Given the description of an element on the screen output the (x, y) to click on. 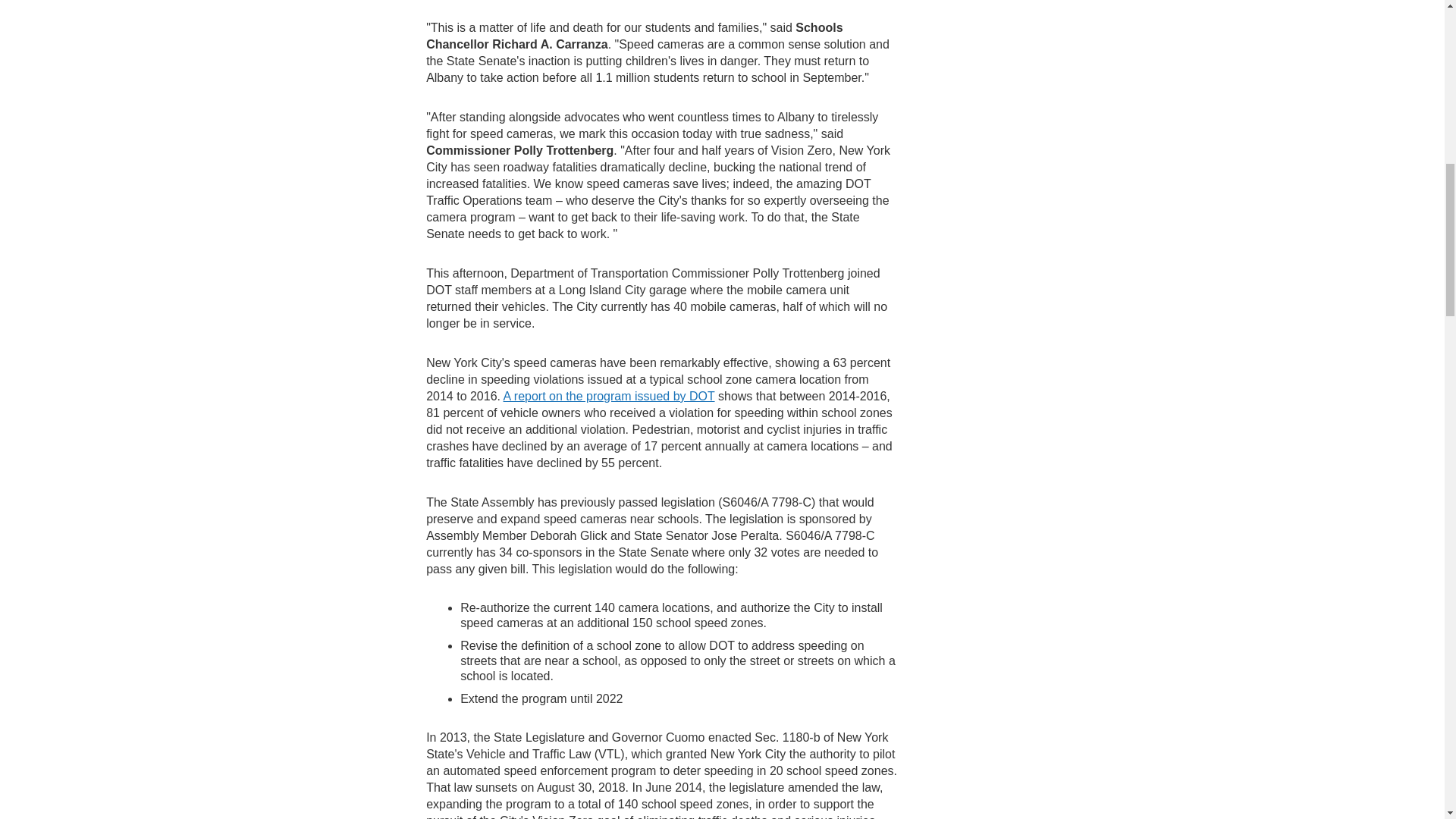
A report on the program issued by DOT (608, 395)
